Given the description of an element on the screen output the (x, y) to click on. 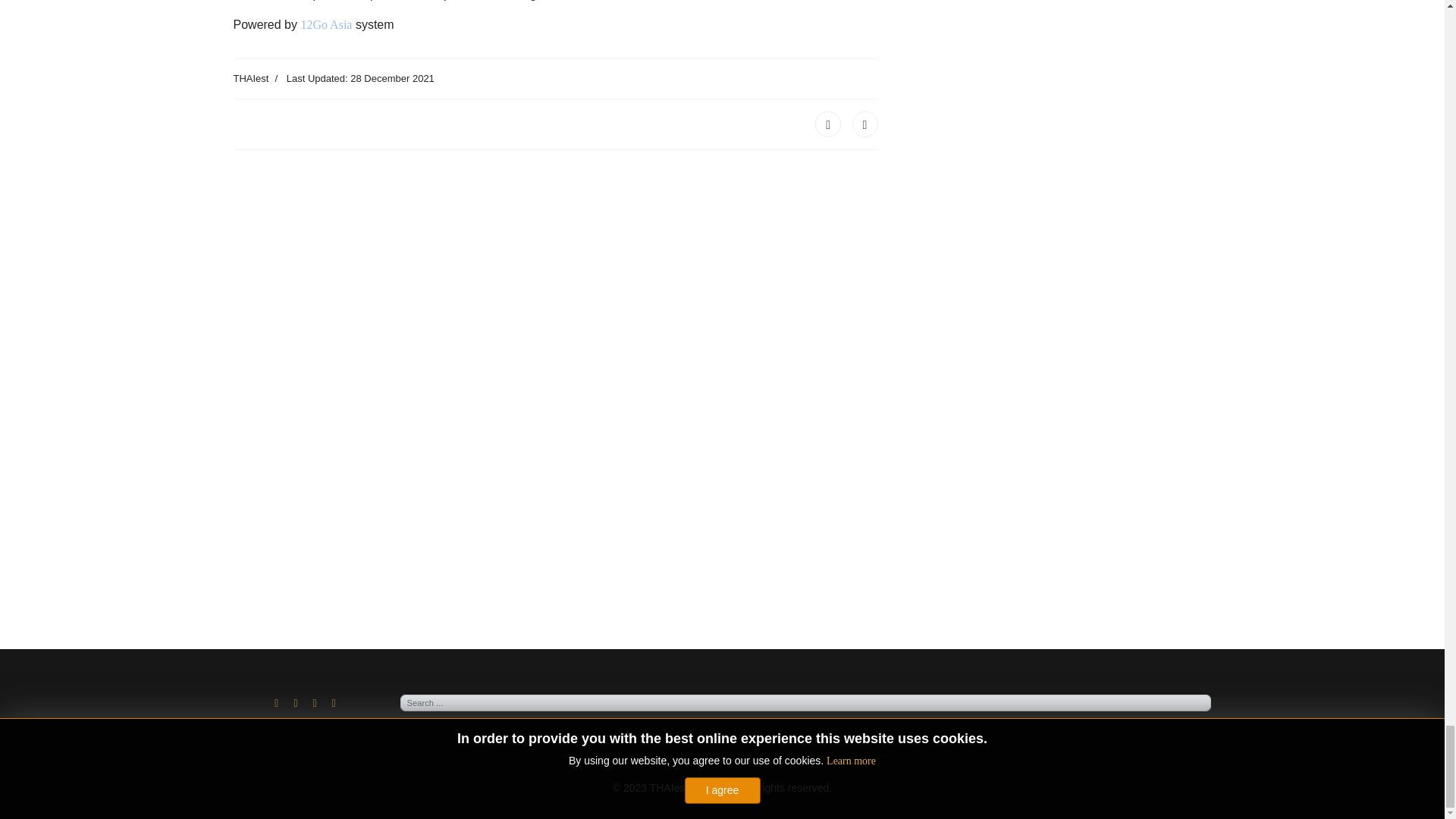
Facebook (828, 124)
Twitter (864, 124)
Written by: THAIest (250, 78)
